Given the description of an element on the screen output the (x, y) to click on. 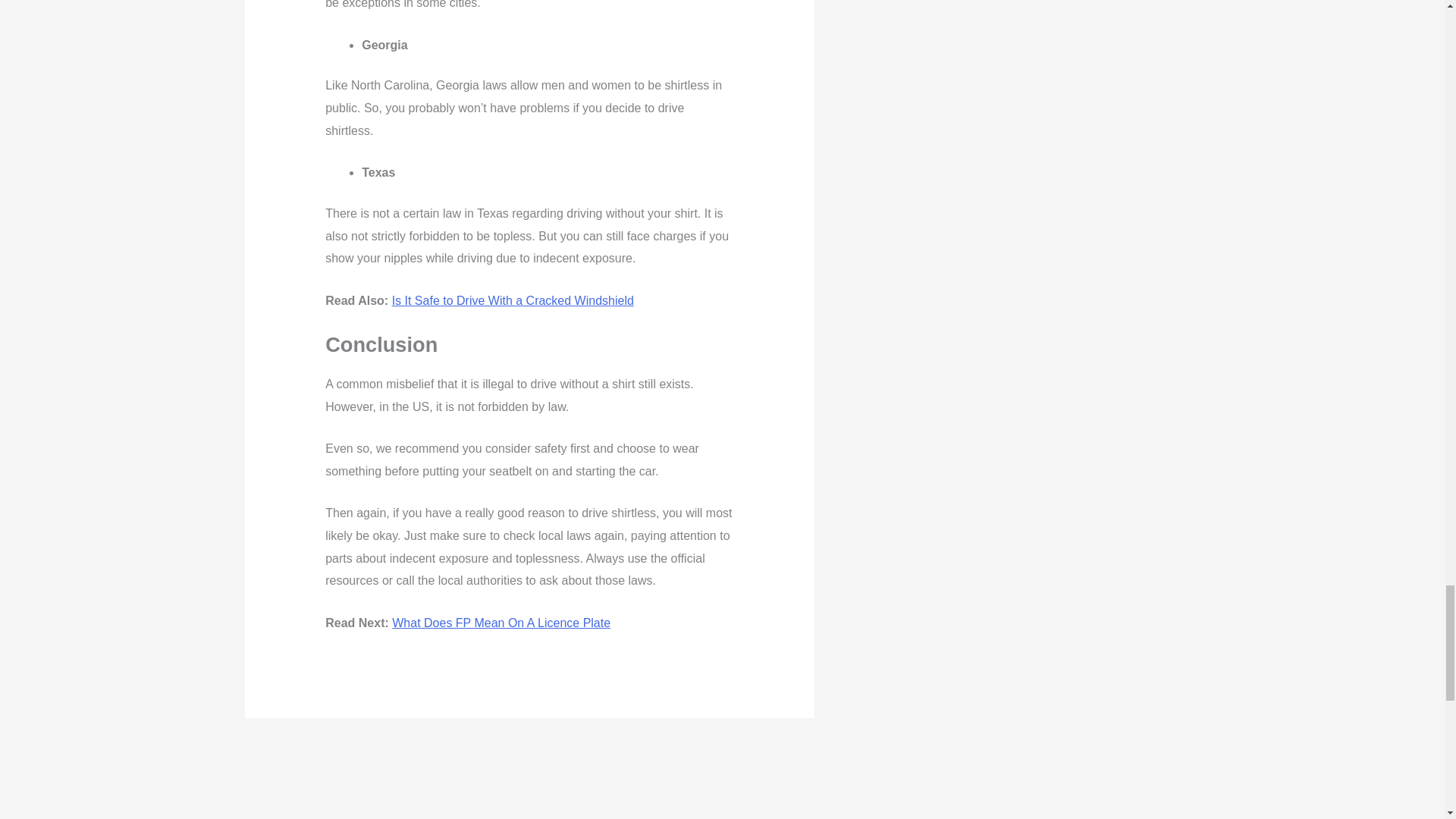
What Does FP Mean On A Licence Plate (500, 622)
Is It Safe to Drive With a Cracked Windshield (512, 300)
